Given the description of an element on the screen output the (x, y) to click on. 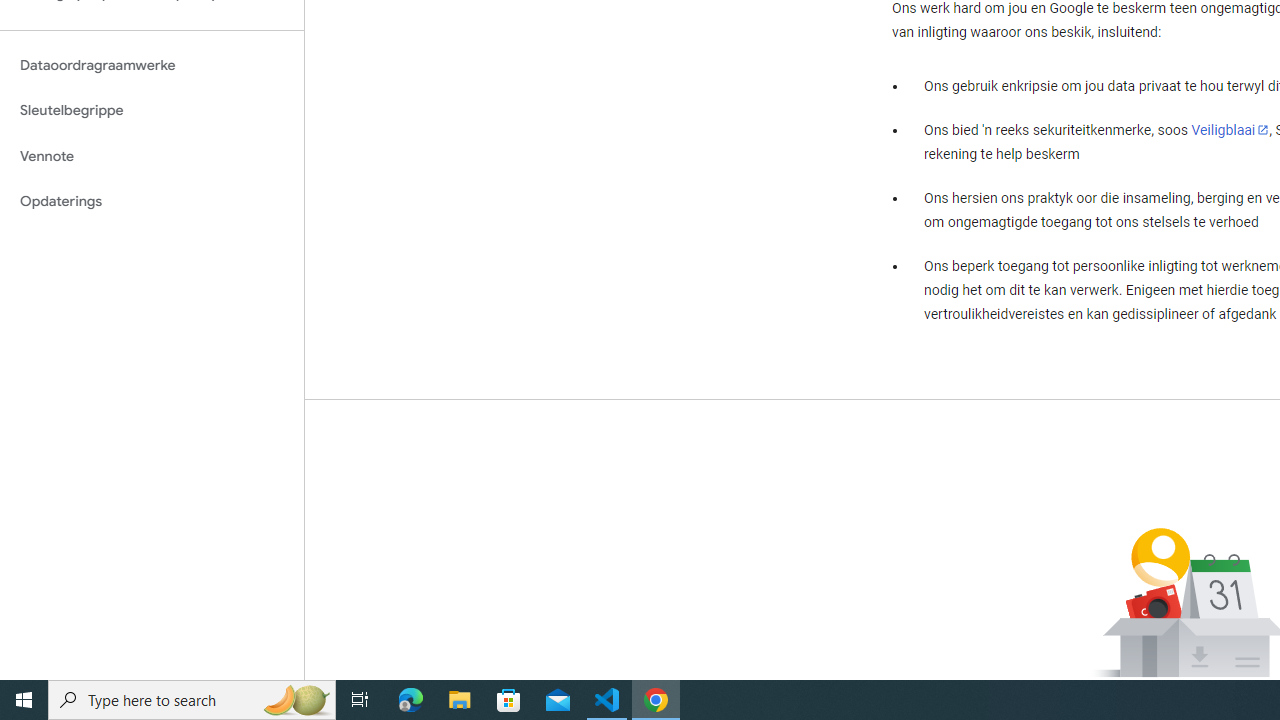
Vennote (152, 156)
Veiligblaai (1229, 129)
Sleutelbegrippe (152, 110)
Opdaterings (152, 201)
Dataoordragraamwerke (152, 65)
